Given the description of an element on the screen output the (x, y) to click on. 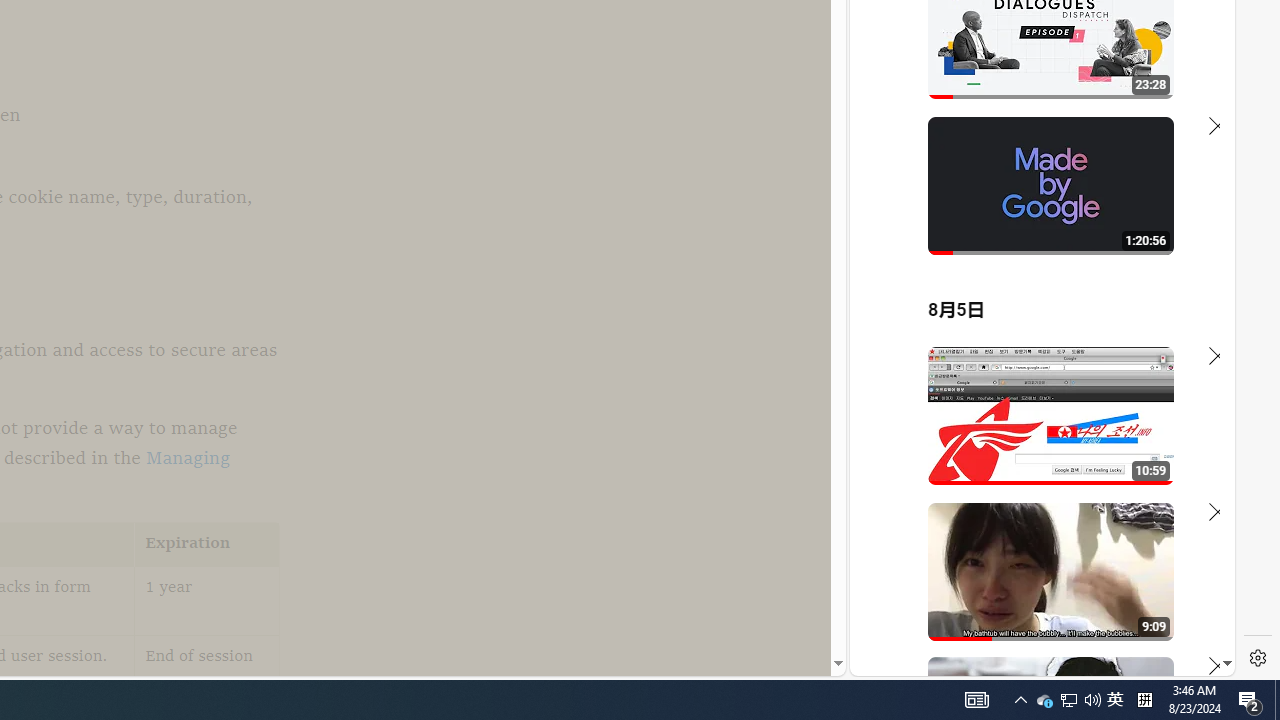
1 year (207, 600)
